Given the description of an element on the screen output the (x, y) to click on. 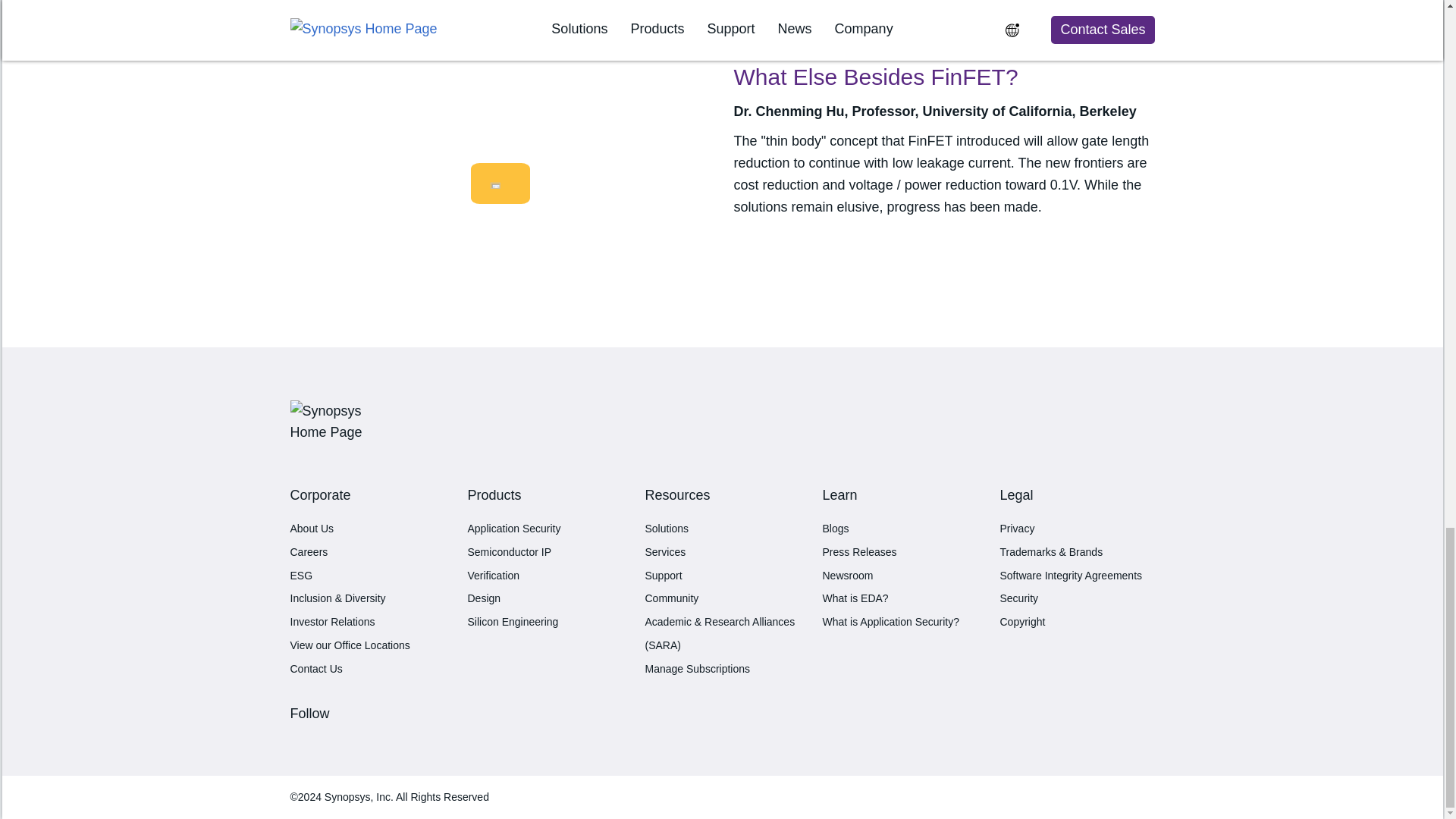
Facebook (313, 739)
Linkedin (301, 739)
Youtube (325, 739)
